Given the description of an element on the screen output the (x, y) to click on. 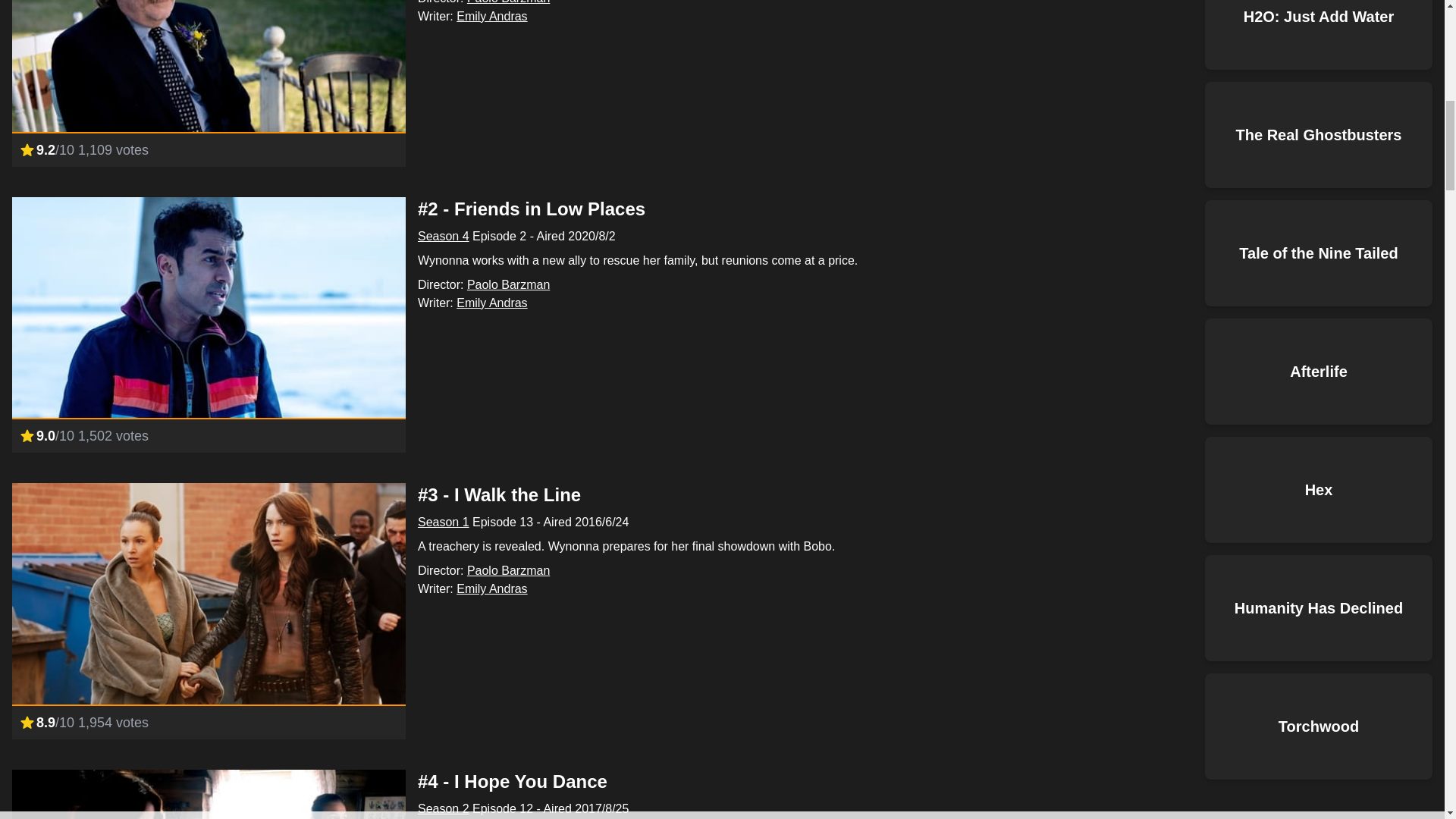
Emily Andras (492, 15)
Emily Andras (492, 588)
Paolo Barzman (508, 2)
Season 1 (442, 521)
Emily Andras (492, 302)
Paolo Barzman (508, 570)
Season 2 (442, 808)
Season 4 (442, 236)
Paolo Barzman (508, 284)
